Given the description of an element on the screen output the (x, y) to click on. 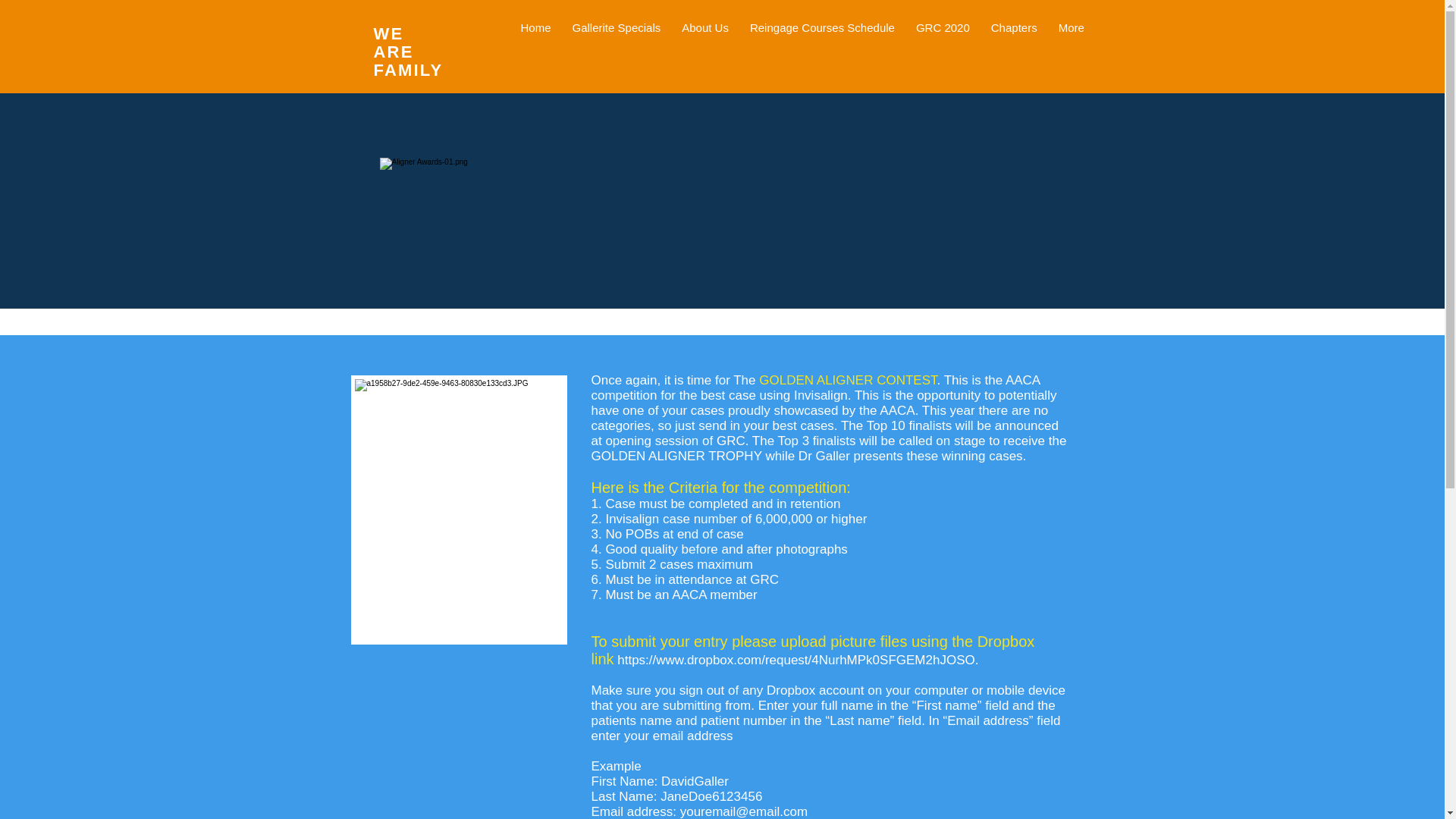
Chapters (1013, 52)
About Us (705, 52)
GRC 2020 (942, 52)
Reingage Courses Schedule (822, 52)
Gallerite Specials (616, 52)
Home (534, 52)
